Given the description of an element on the screen output the (x, y) to click on. 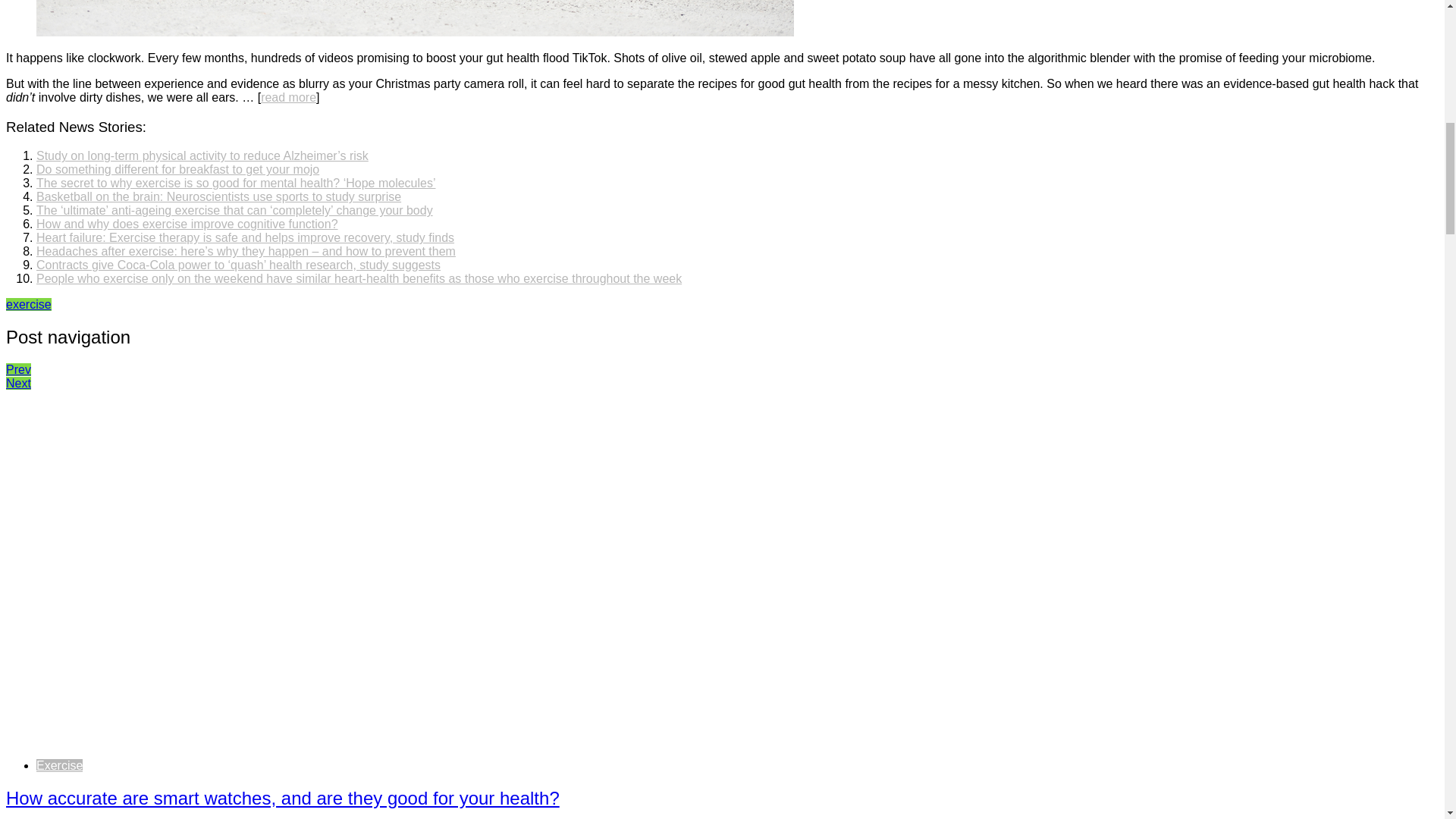
Do something different for breakfast to get your mojo (177, 169)
Do something different for breakfast to get your mojo (177, 169)
Next (17, 382)
Prev (17, 369)
exercise (27, 304)
read more (287, 97)
How and why does exercise improve cognitive function? (186, 223)
